Given the description of an element on the screen output the (x, y) to click on. 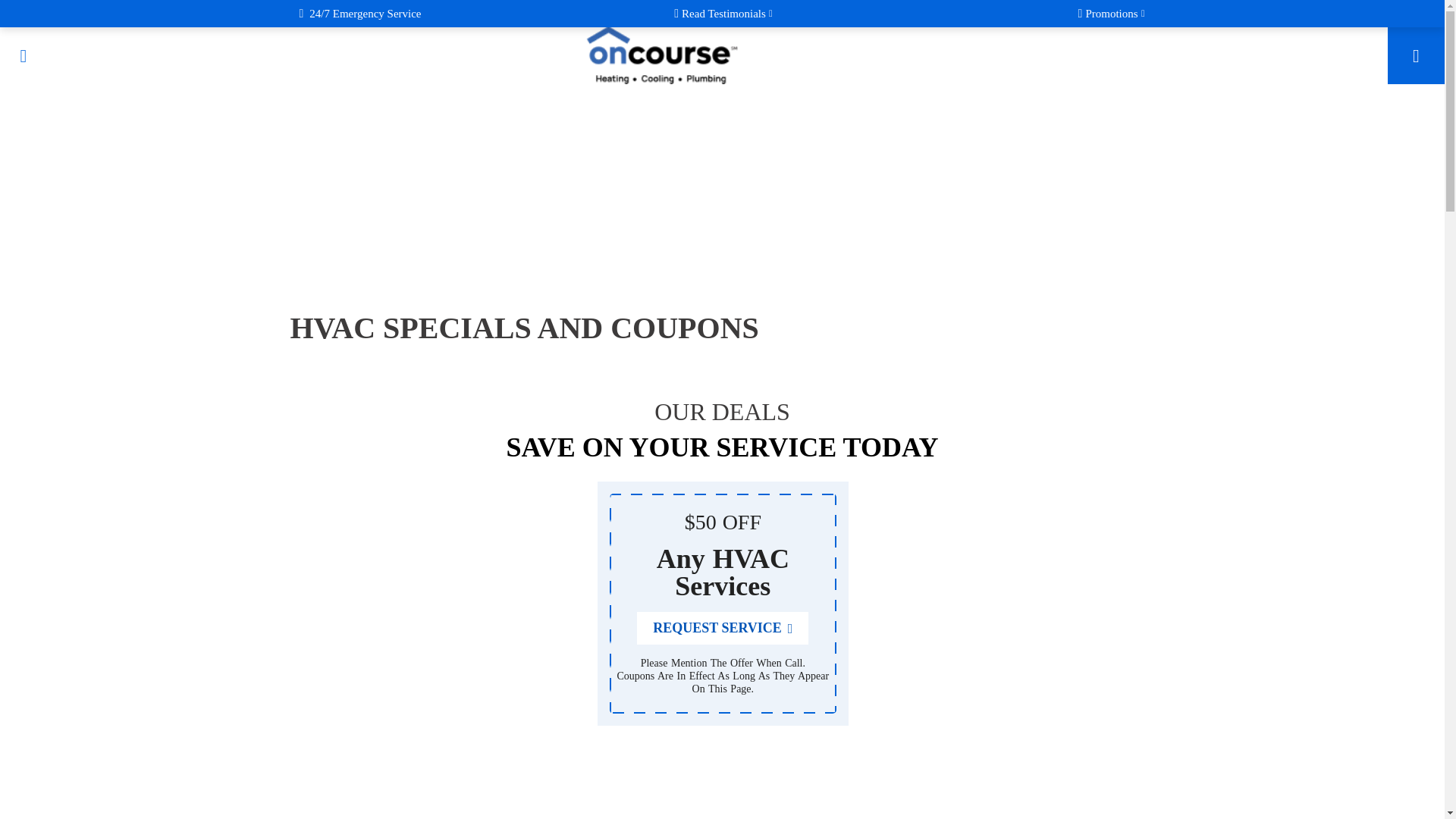
Read Testimonials (723, 13)
Read Testimonials (723, 13)
Promotions (1111, 13)
Promotions (1111, 13)
